Given the description of an element on the screen output the (x, y) to click on. 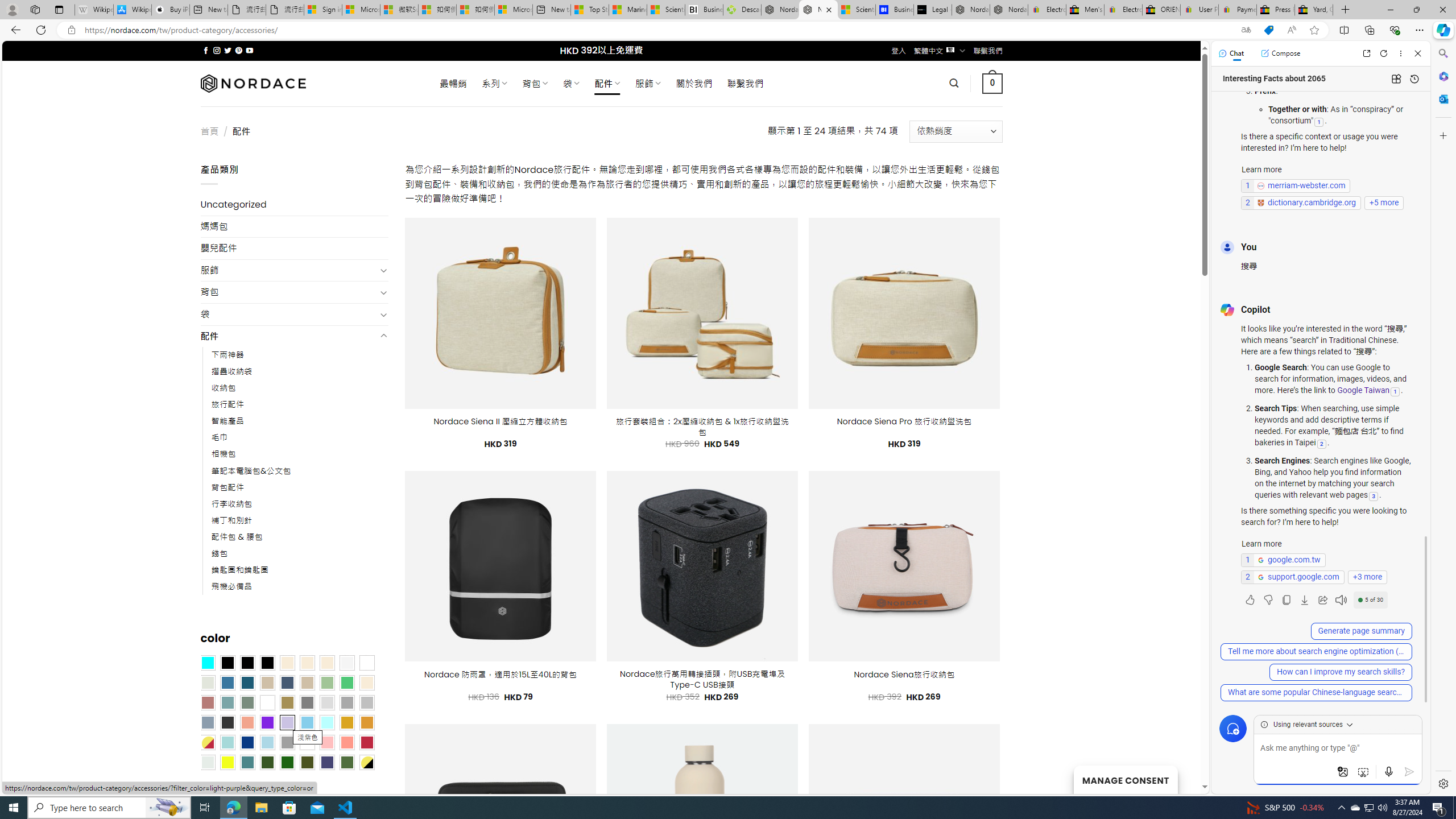
Uncategorized (294, 204)
Chat (1231, 52)
Uncategorized (294, 204)
